Given the description of an element on the screen output the (x, y) to click on. 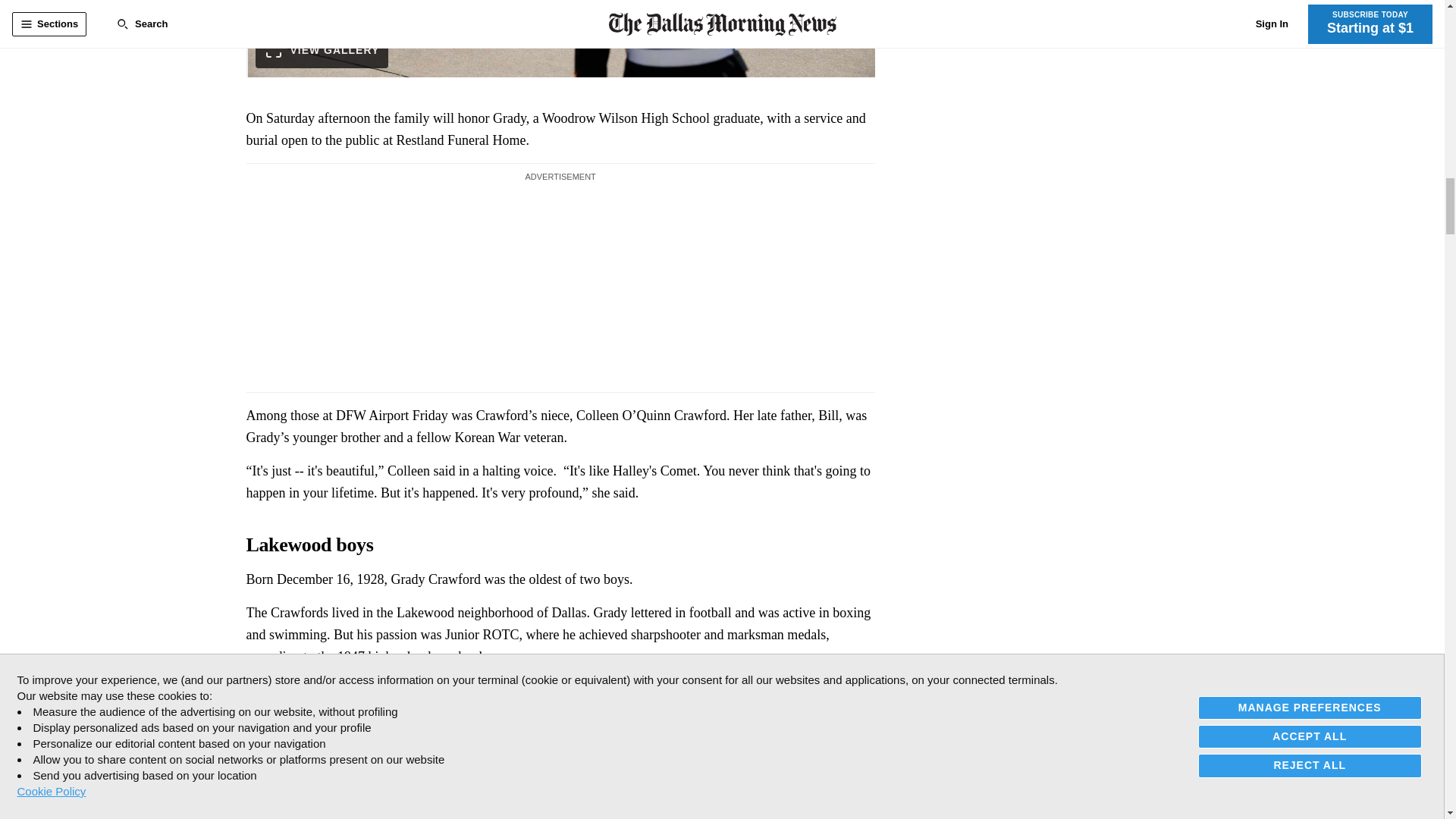
3rd party ad content (560, 285)
